Given the description of an element on the screen output the (x, y) to click on. 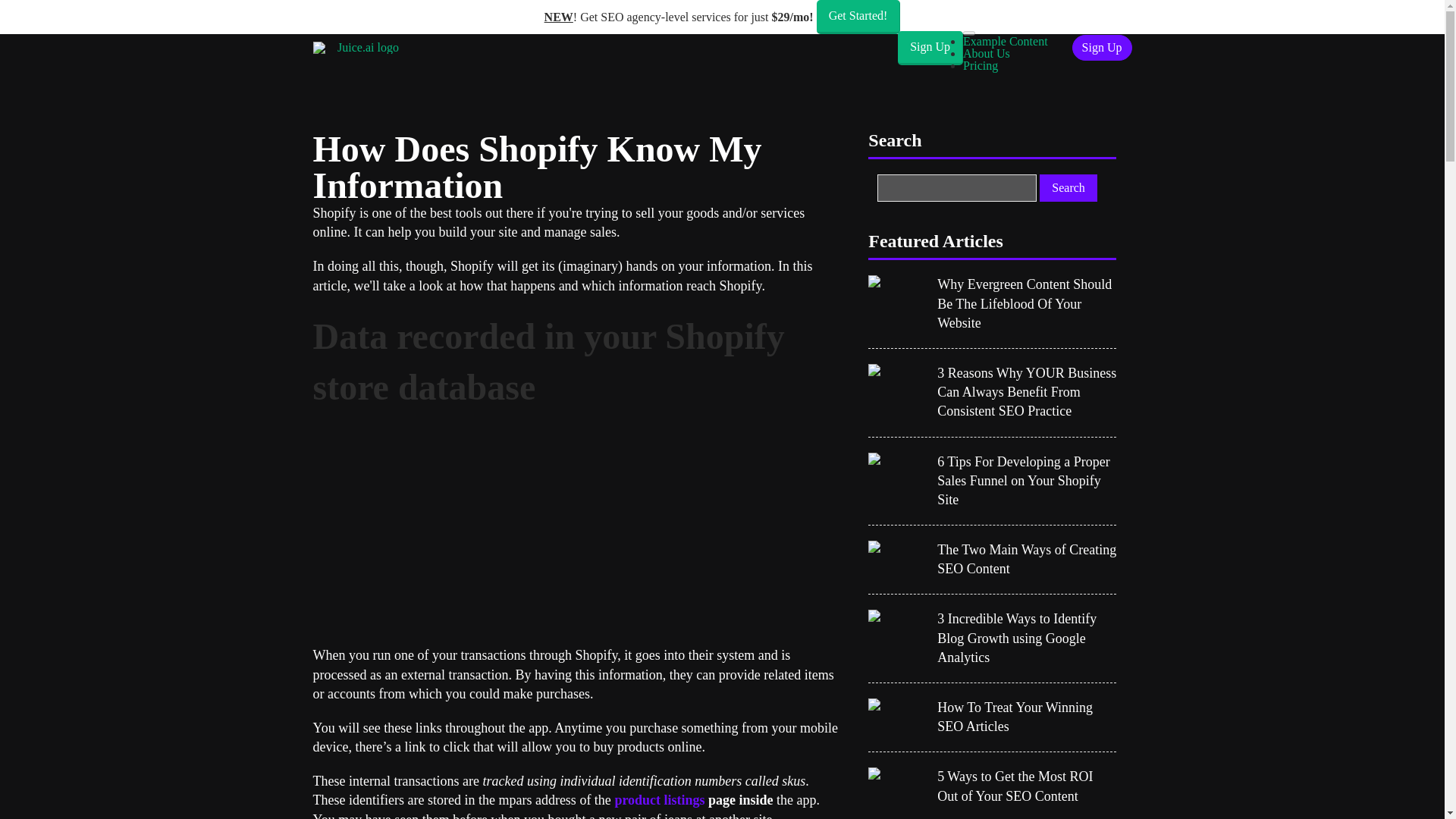
About Us (986, 52)
5 Ways to Get the Most ROI Out of Your SEO Content (1026, 786)
Pricing (979, 65)
Get Started! (858, 17)
product listings (659, 799)
Example Content (1005, 41)
Search (1068, 187)
